Given the description of an element on the screen output the (x, y) to click on. 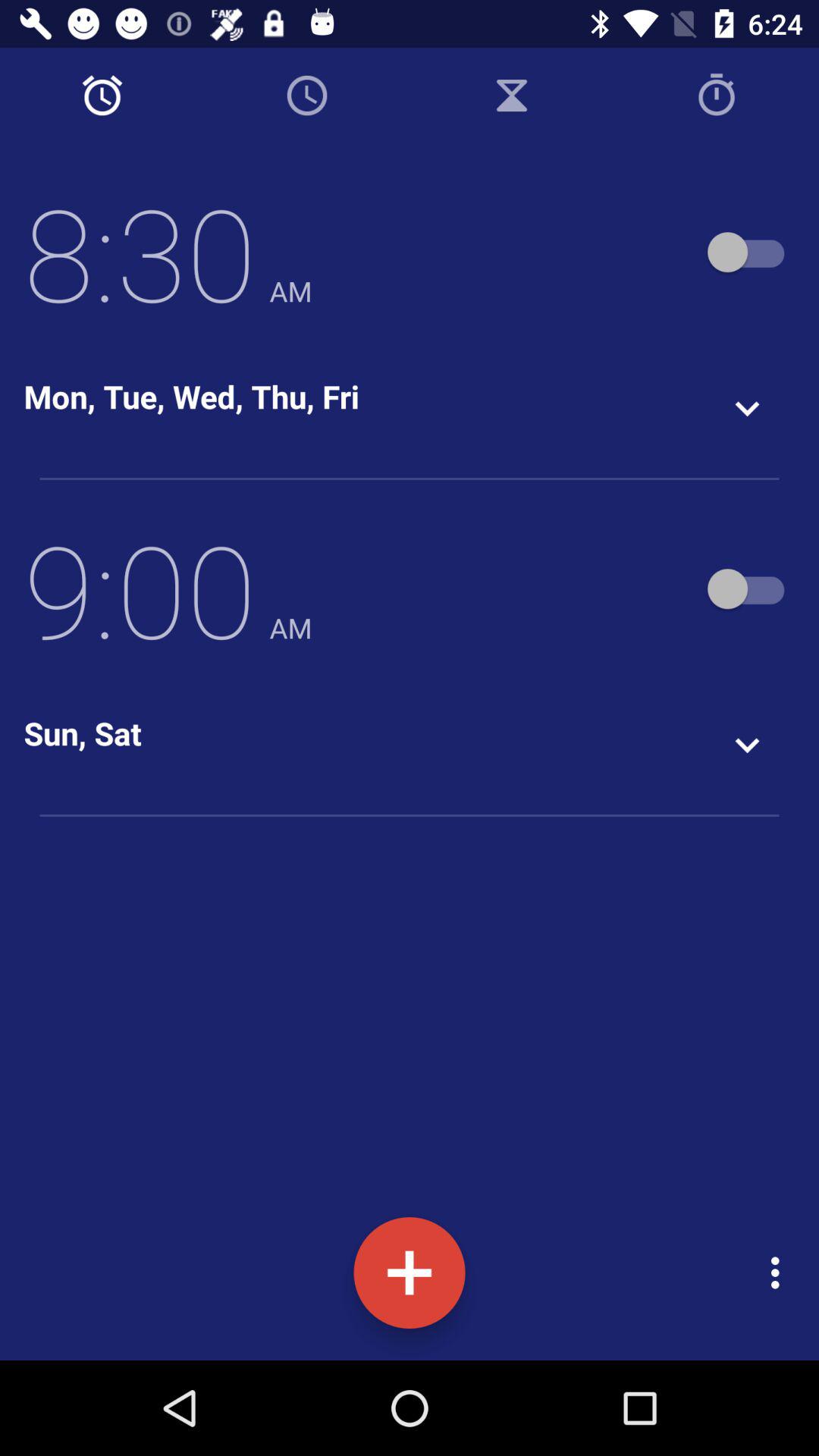
click icon above the sun, sat (167, 588)
